Given the description of an element on the screen output the (x, y) to click on. 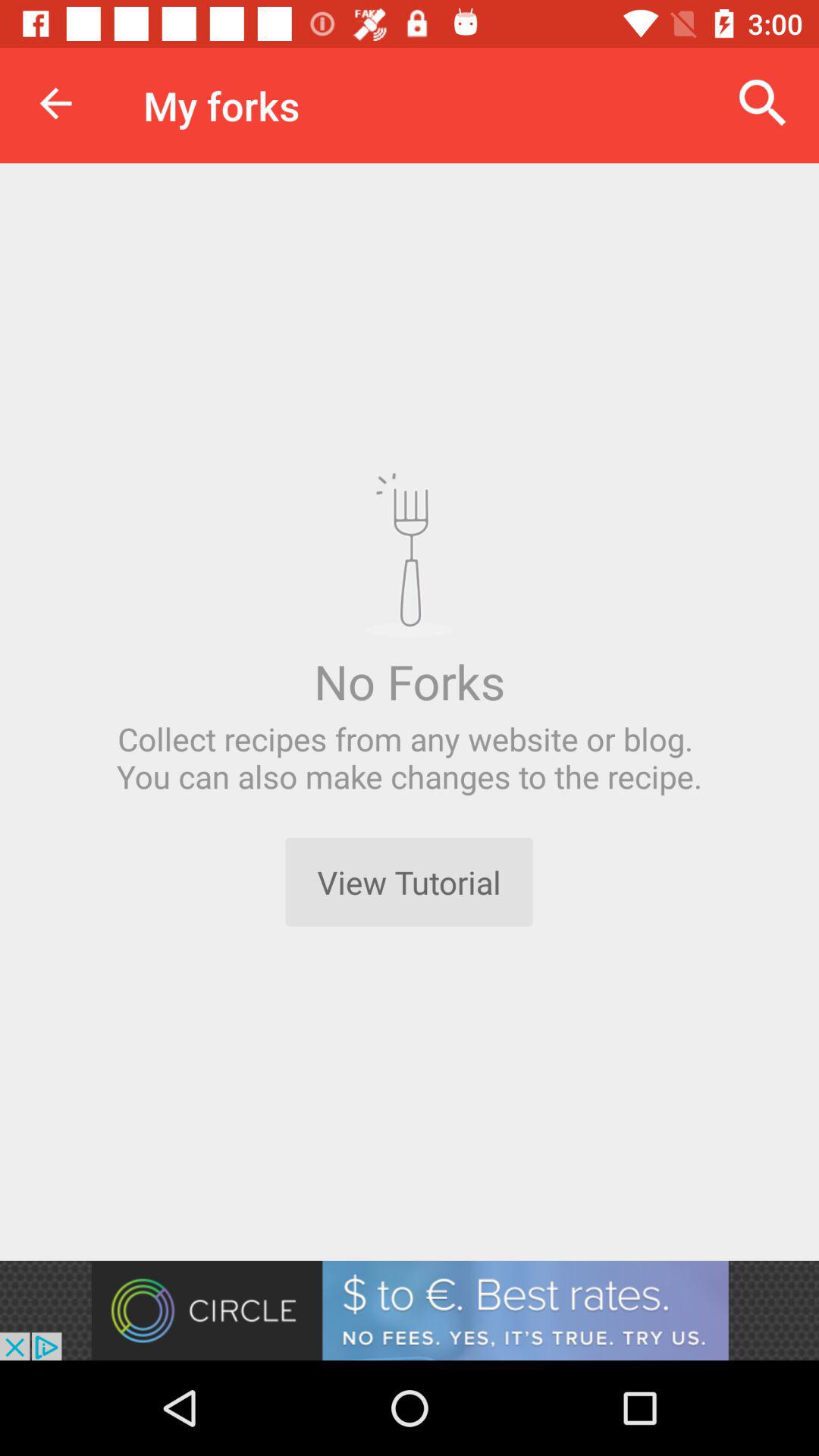
install app (409, 1310)
